Given the description of an element on the screen output the (x, y) to click on. 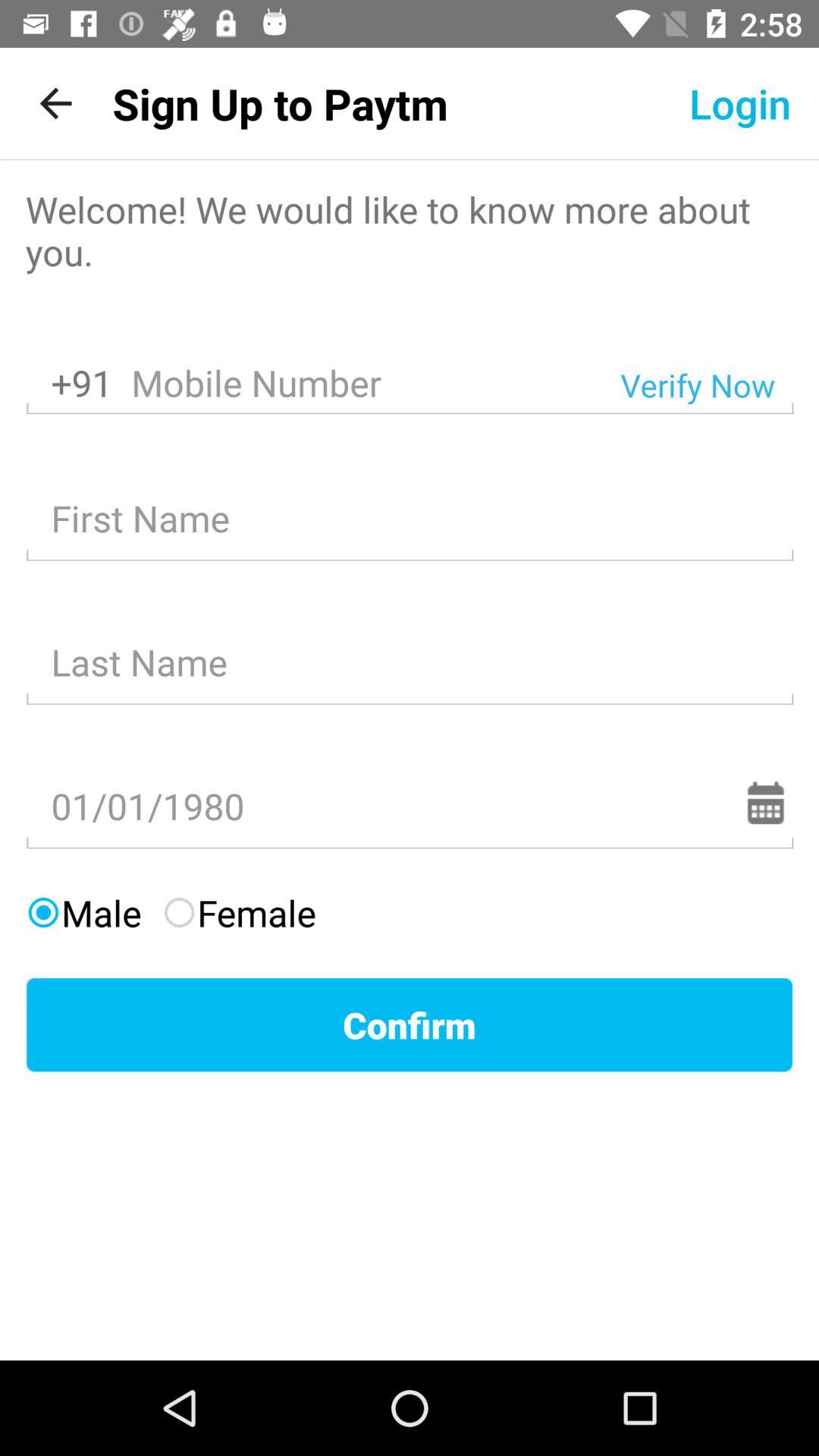
jump until female item (238, 912)
